Given the description of an element on the screen output the (x, y) to click on. 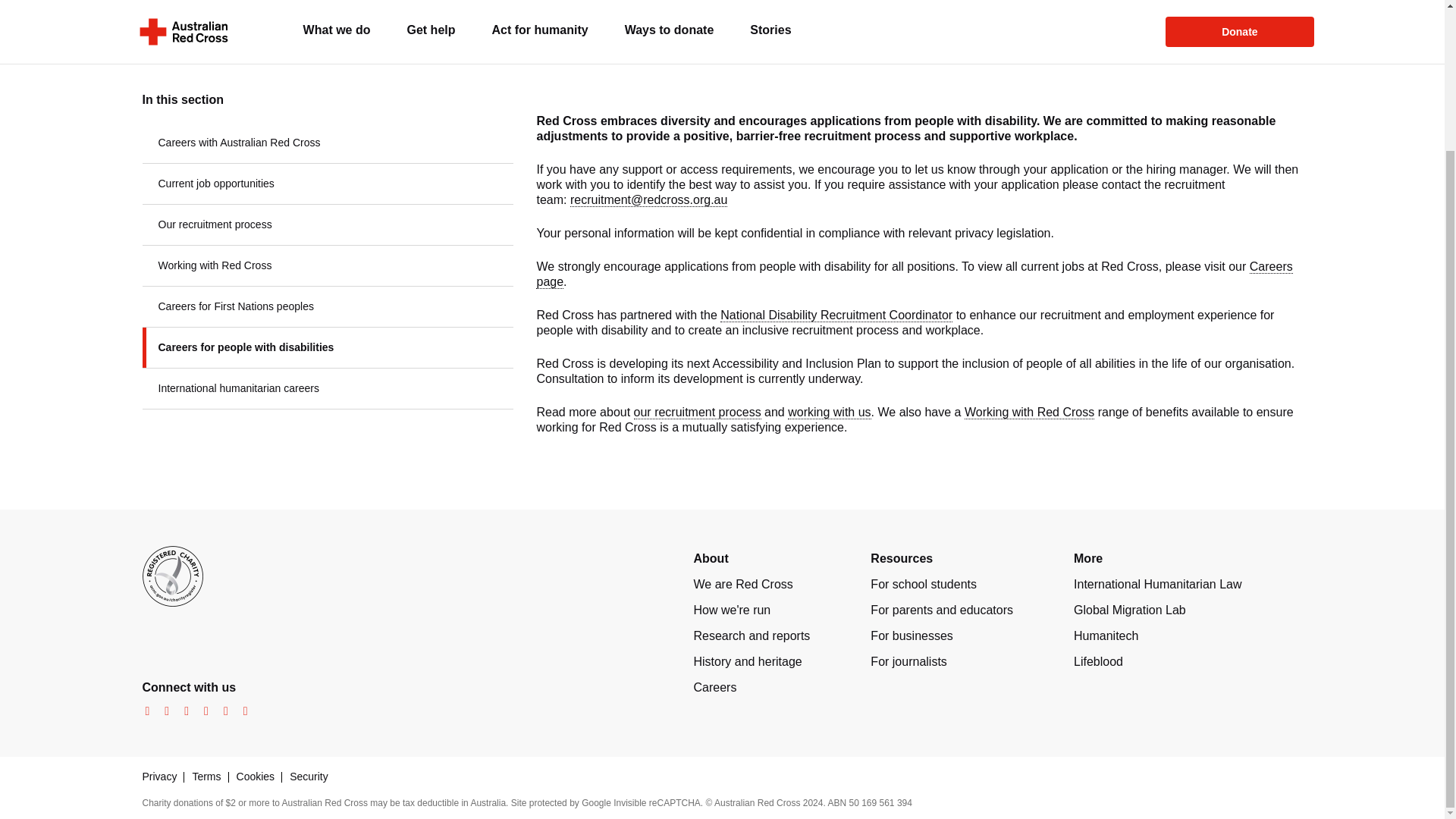
youtube (201, 710)
Research and reports (751, 635)
We are Red Cross (742, 584)
More (1088, 558)
For journalists (908, 661)
Careers (714, 686)
About (710, 558)
How we're run (731, 609)
For parents and educators (941, 609)
twitter (181, 710)
